Given the description of an element on the screen output the (x, y) to click on. 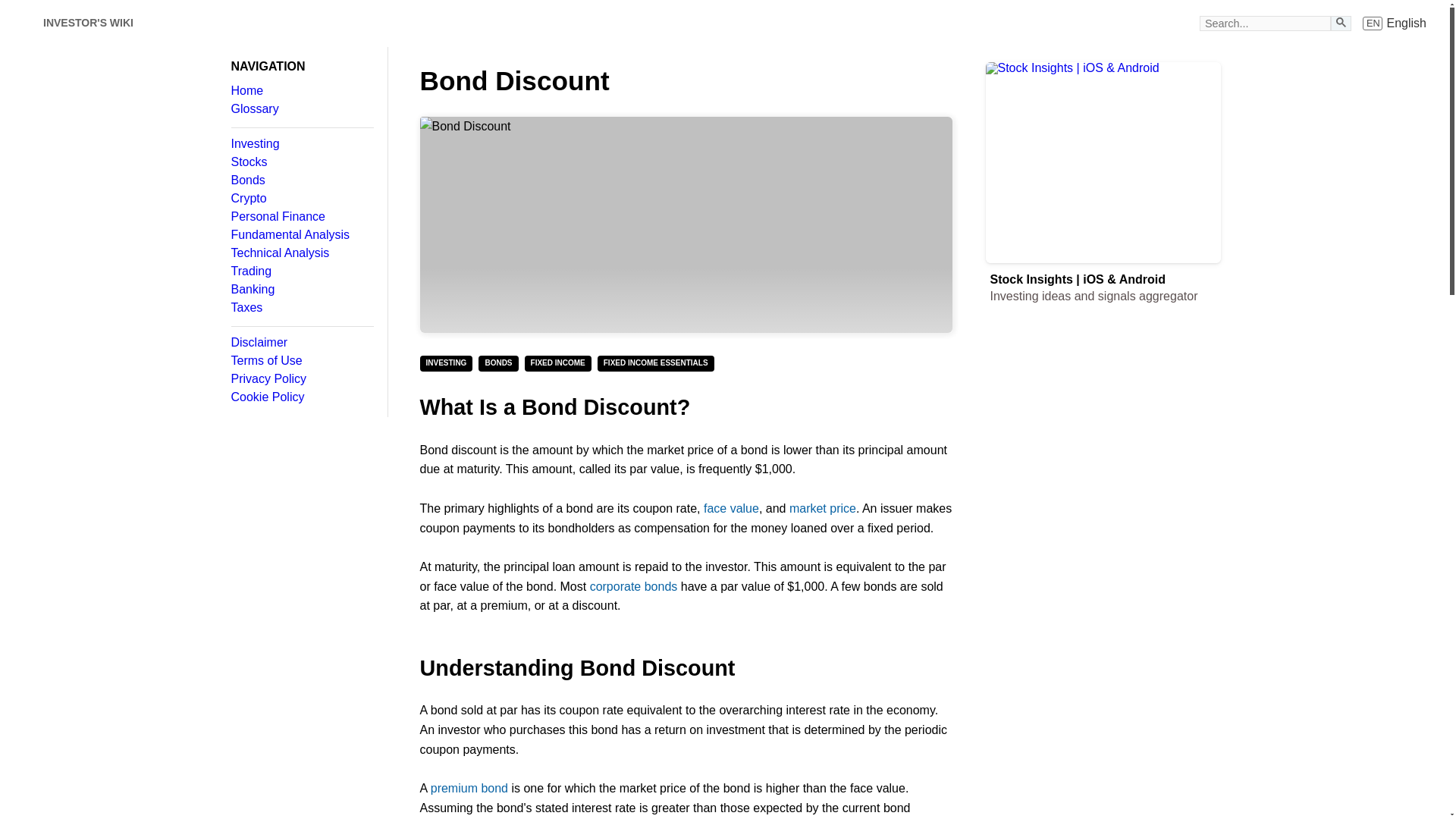
Banking (301, 289)
Investor's wiki (23, 23)
Trading (301, 271)
Bonds (301, 180)
Stocks (301, 162)
Taxes (301, 307)
Home (301, 91)
Glossary (301, 109)
Disclaimer (301, 342)
Terms of Use (301, 360)
Search (1340, 22)
Bond Discount (686, 224)
Investing (301, 143)
Personal Finance (301, 216)
Fundamental Analysis (301, 234)
